Given the description of an element on the screen output the (x, y) to click on. 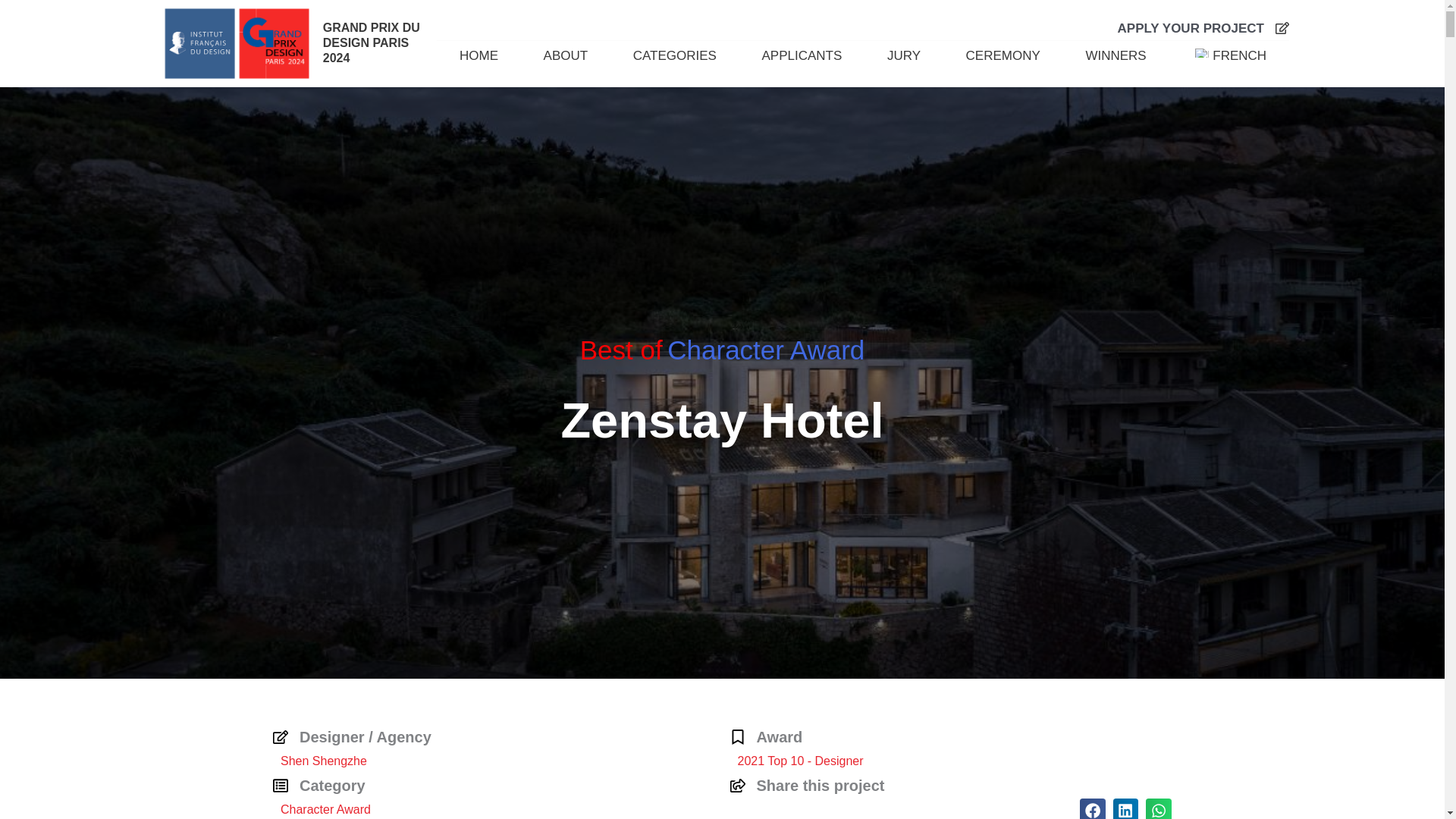
ABOUT (565, 55)
CEREMONY (1002, 55)
APPLY YOUR PROJECT (1190, 28)
GRAND PRIX DU DESIGN PARIS 2024 (371, 42)
APPLICANTS (801, 55)
CATEGORIES (674, 55)
FRENCH (1228, 55)
French (1201, 52)
HOME (478, 55)
WINNERS (1115, 55)
Character Award (765, 349)
JURY (903, 55)
